Given the description of an element on the screen output the (x, y) to click on. 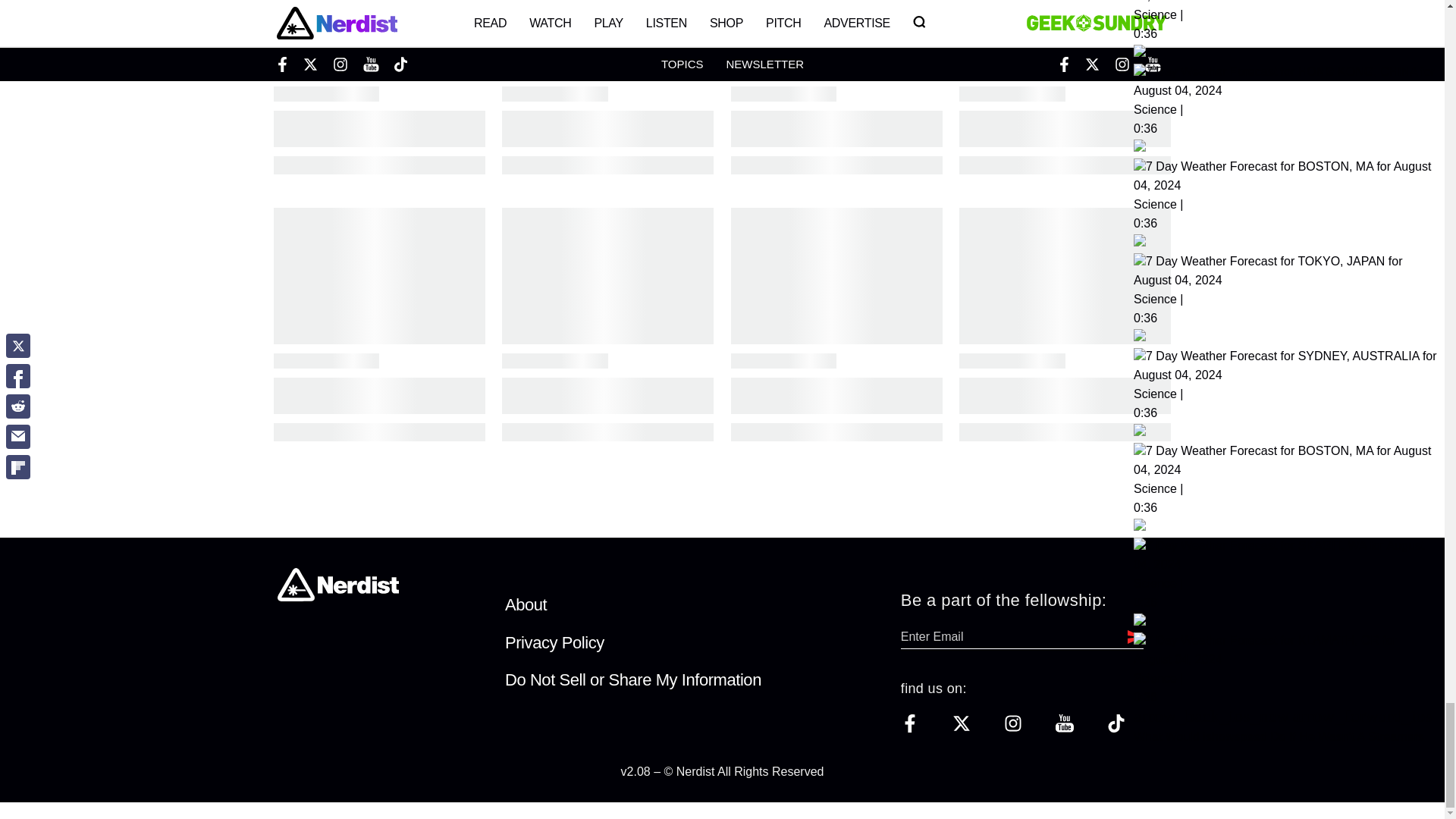
Sign Up (1131, 636)
